Given the description of an element on the screen output the (x, y) to click on. 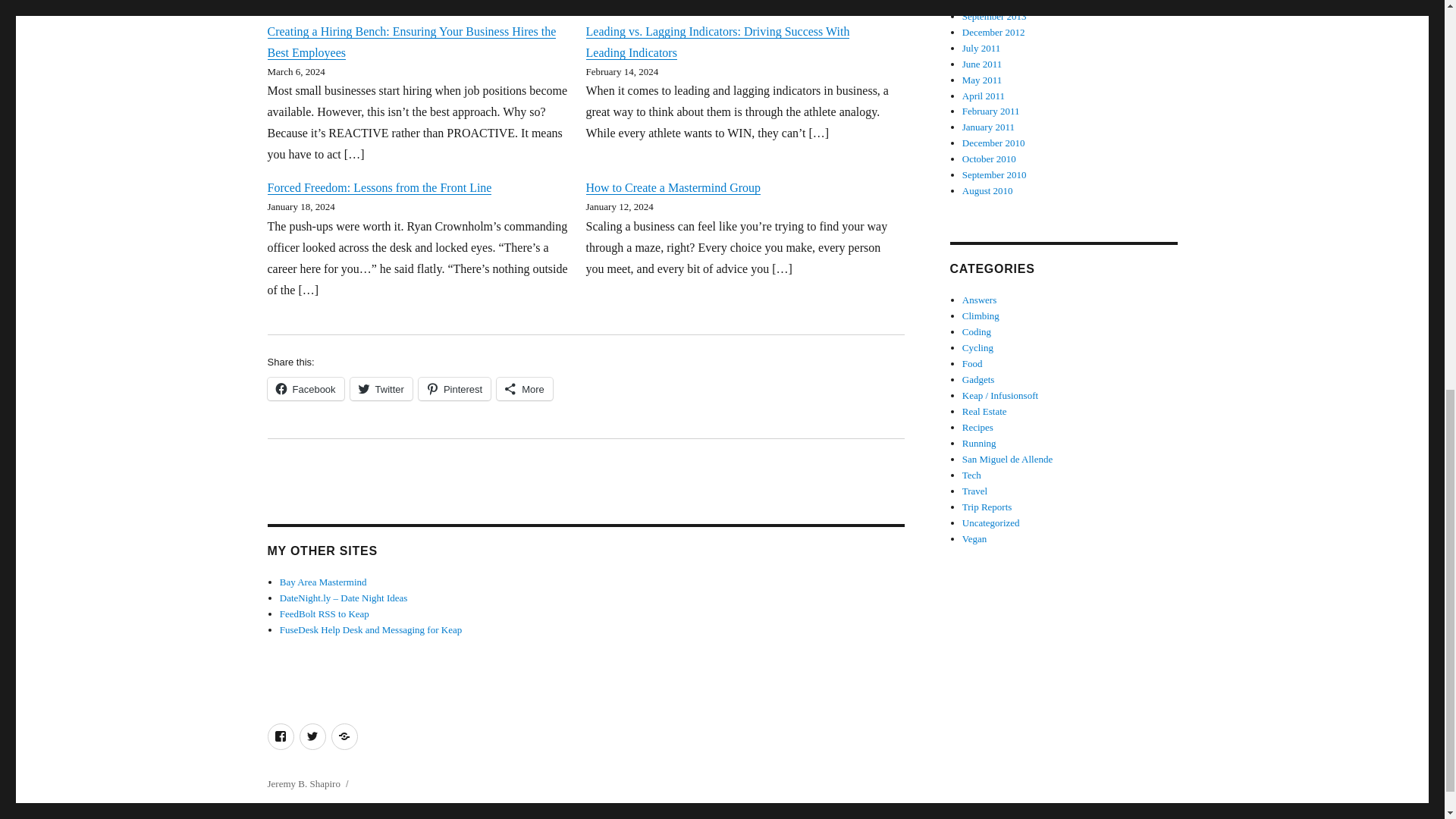
More (524, 388)
How to Create a Mastermind Group (672, 187)
Click to share on Twitter (381, 388)
RSS Feeds to Email for Keap fka Infusionsoft (324, 613)
Unique Date Night Ideas and Inspiration (343, 597)
FeedBolt RSS to Keap (324, 613)
Click to share on Pinterest (454, 388)
Pinterest (454, 388)
Click to share on Facebook (304, 388)
Bay Area Mastermind (322, 582)
FuseDesk Help Desk and Messaging for Keap (370, 629)
Forced Freedom: Lessons from the Front Line (379, 187)
